Given the description of an element on the screen output the (x, y) to click on. 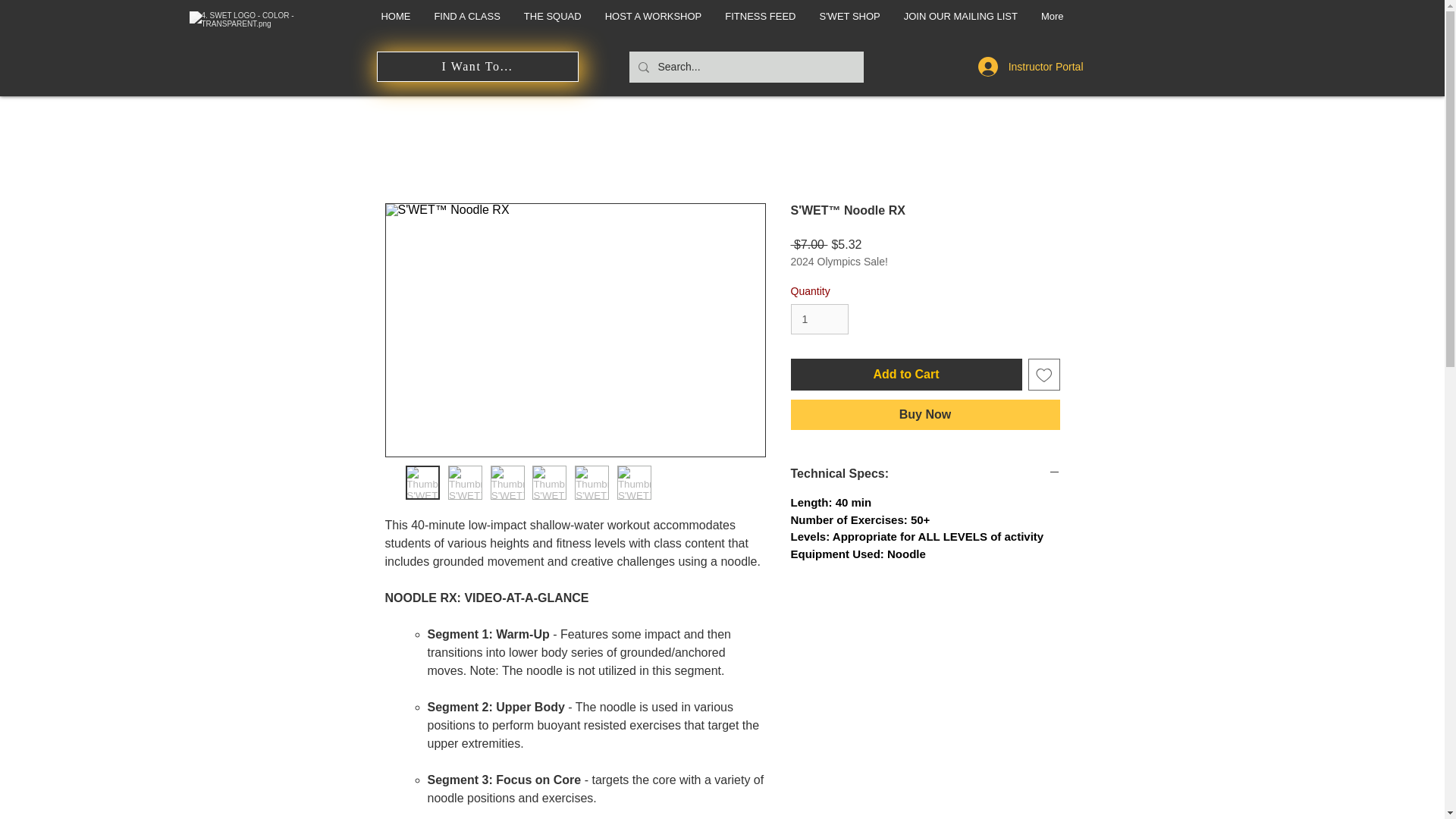
HOME (395, 22)
Technical Specs: (924, 473)
JOIN OUR MAILING LIST (960, 22)
FIND A CLASS (466, 22)
1 (818, 318)
Instructor Portal (1031, 66)
Buy Now (924, 414)
Add to Cart (906, 374)
THE SQUAD (552, 22)
HOST A WORKSHOP (653, 22)
FITNESS FEED (759, 22)
S'WET SHOP (849, 22)
